Given the description of an element on the screen output the (x, y) to click on. 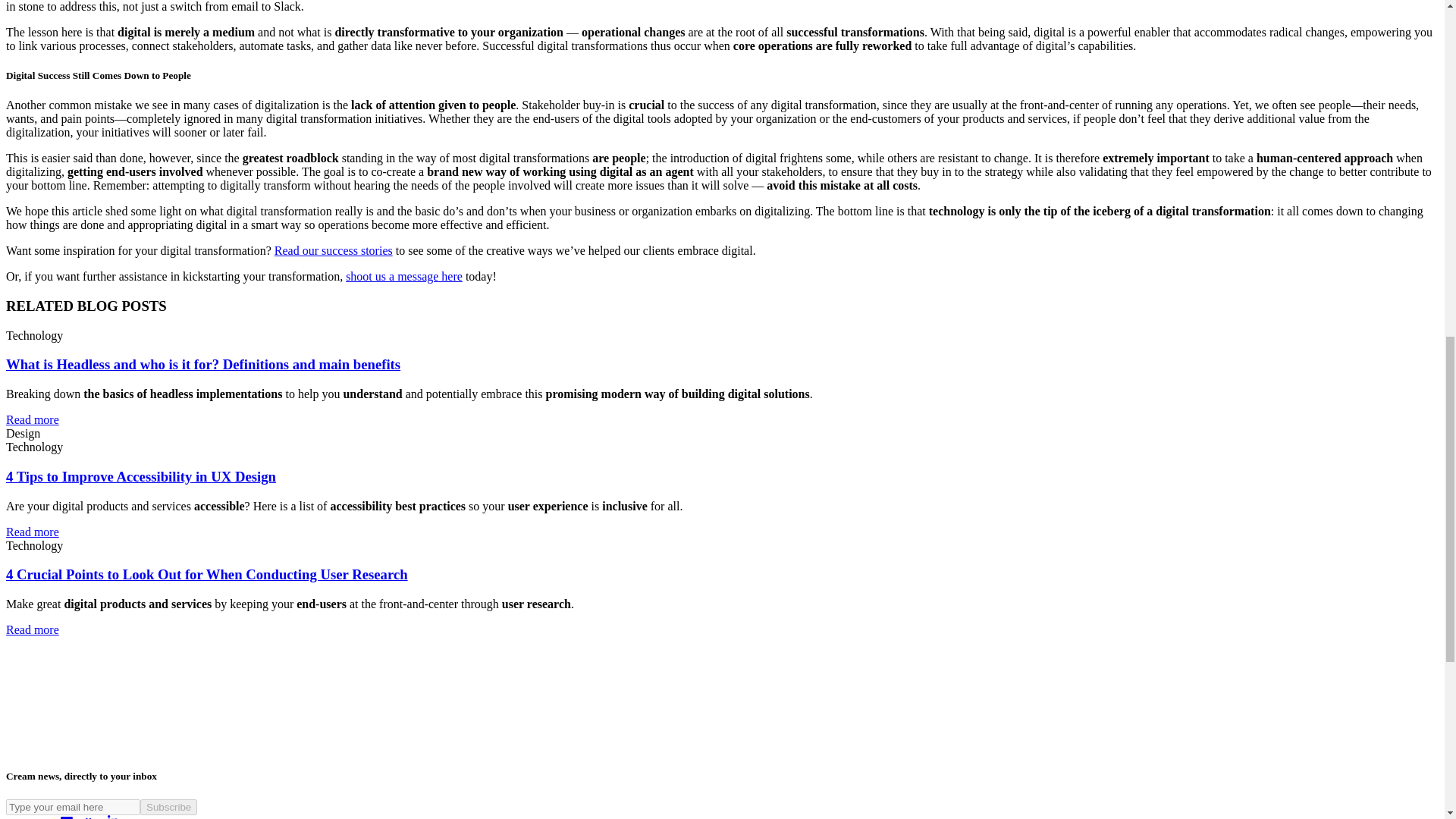
Read our success stories (334, 250)
Follow (95, 817)
Contact Us (38, 817)
Read more (32, 419)
Read more (32, 530)
Subscribe (167, 806)
Read more (32, 629)
shoot us a message here (404, 276)
